Given the description of an element on the screen output the (x, y) to click on. 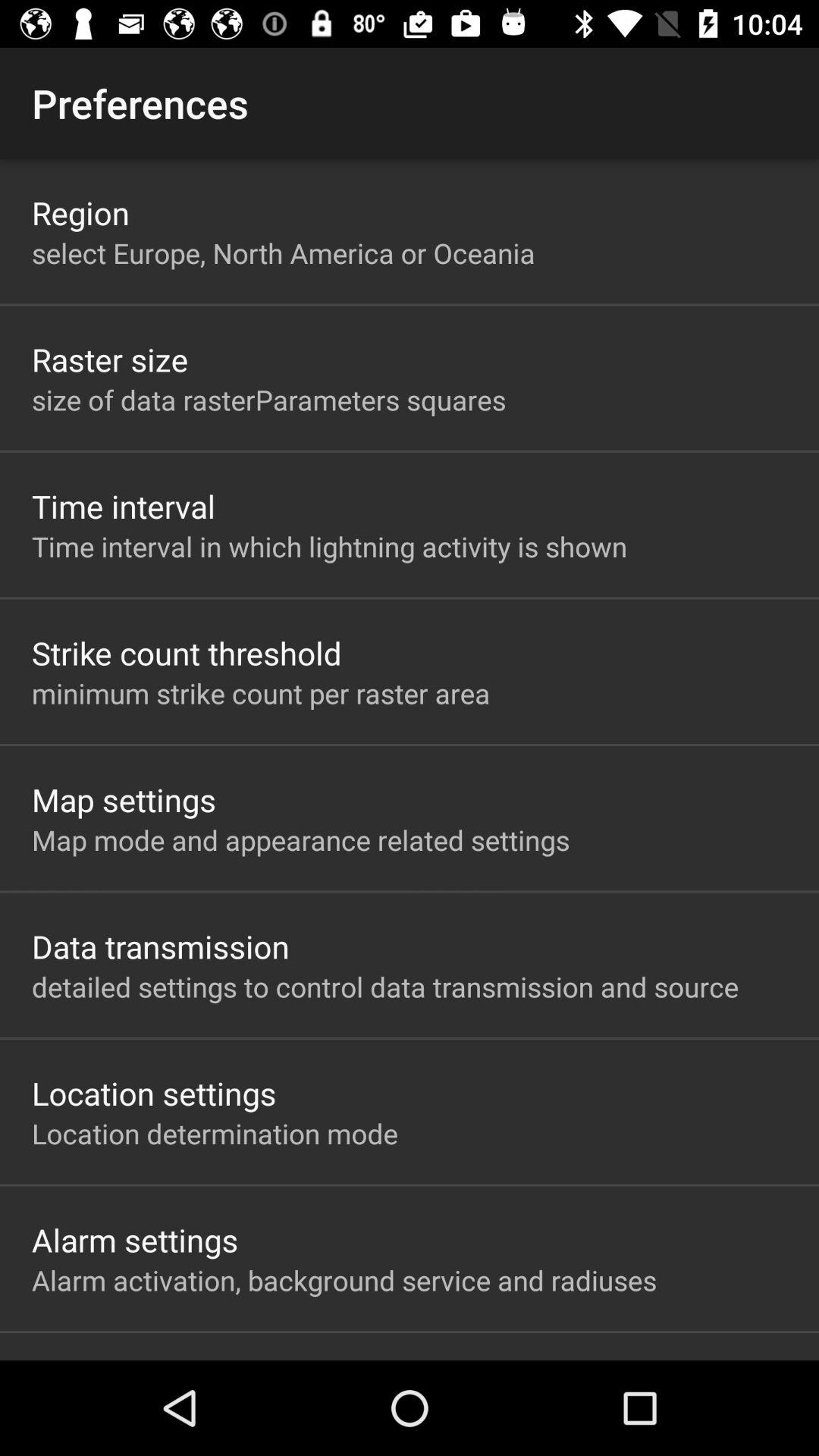
launch the app above the data transmission icon (300, 839)
